Given the description of an element on the screen output the (x, y) to click on. 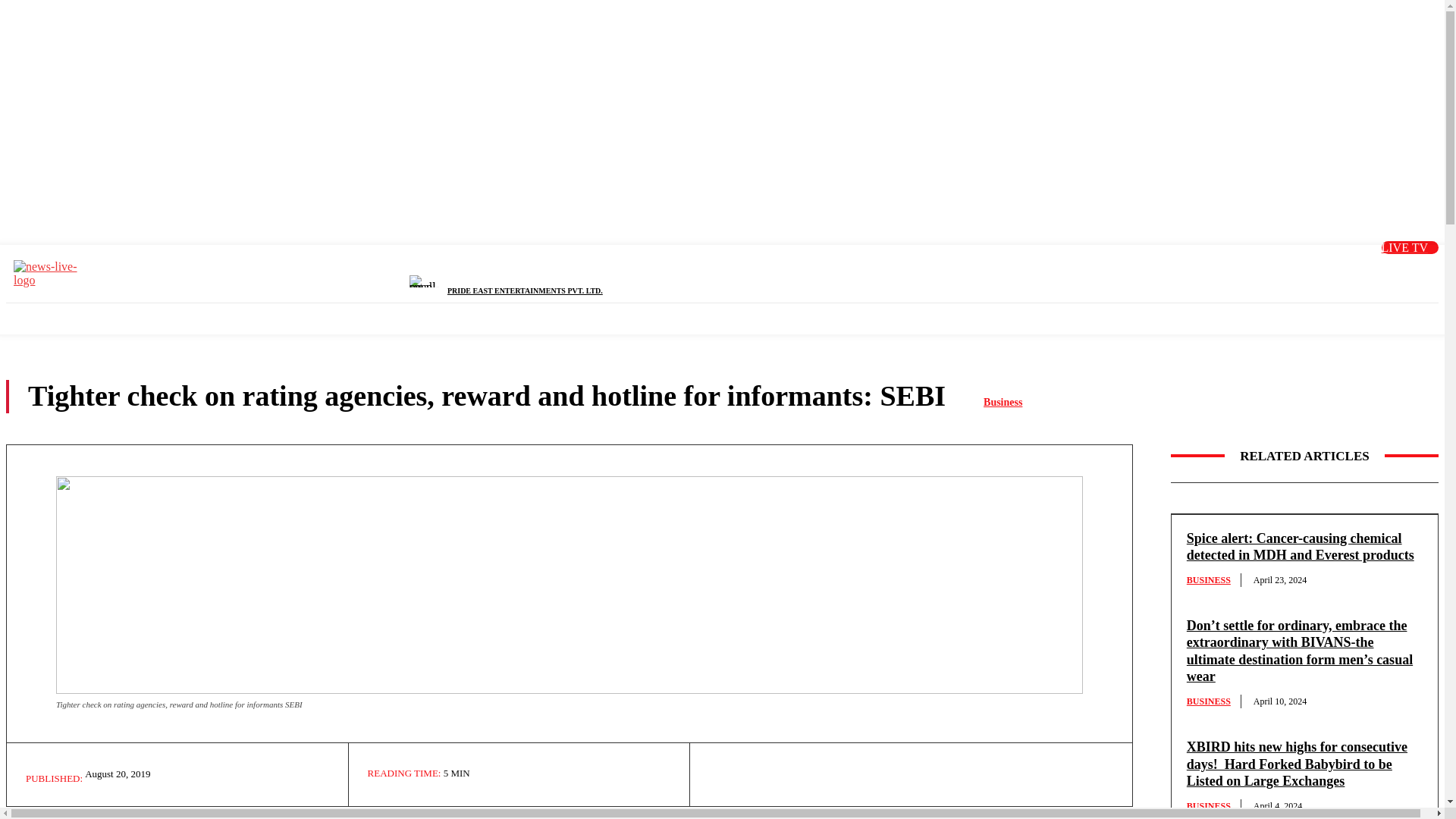
PRIDE EAST ENTERTAINMENTS PVT. LTD. (524, 290)
Twitter (1257, 268)
LIVE TV (1409, 246)
news-live-logo (50, 273)
peepl-small (427, 281)
Instagram (1294, 268)
Facebook (1217, 268)
Youtube (1332, 268)
